Given the description of an element on the screen output the (x, y) to click on. 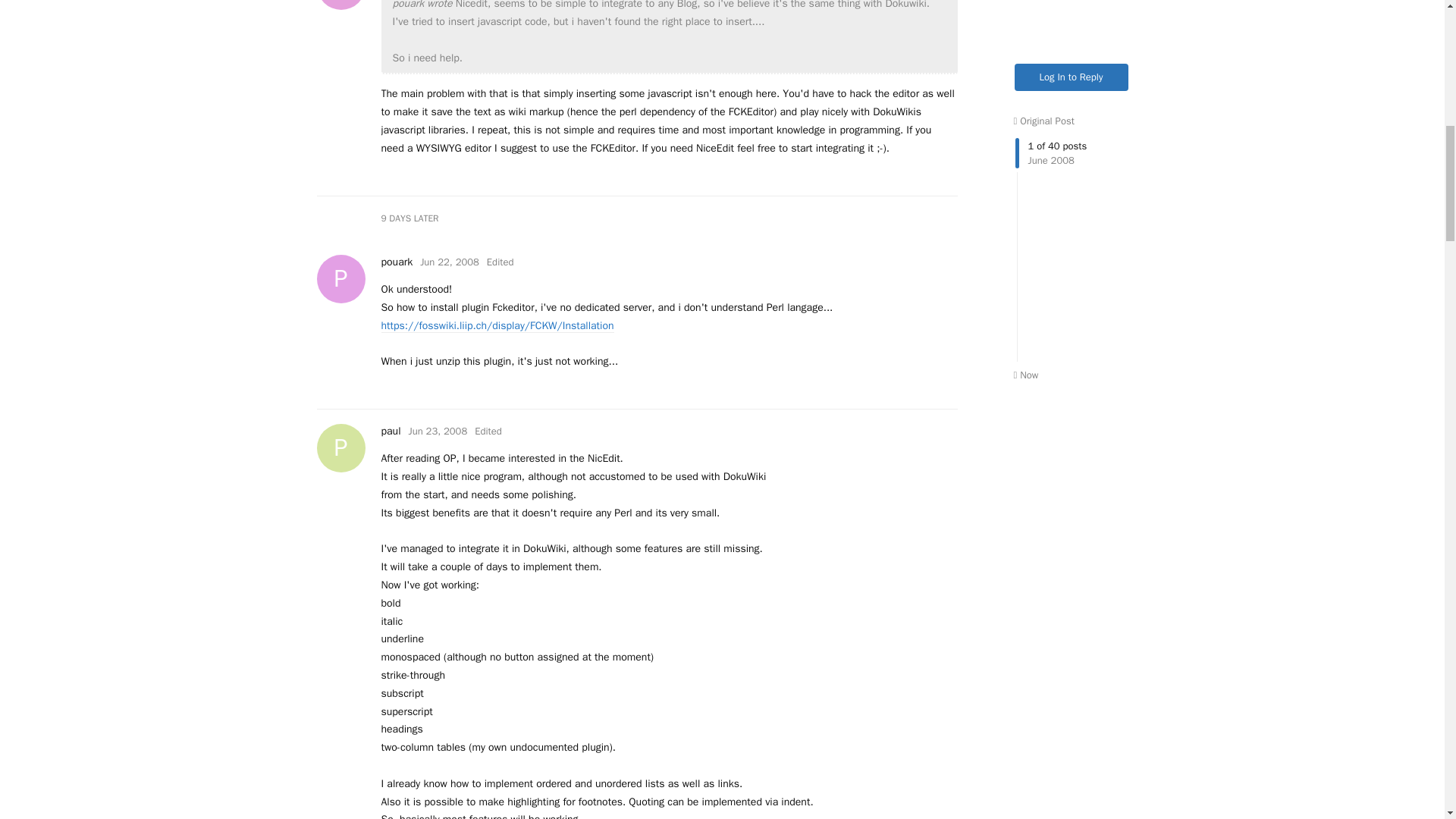
Monday, June 23, 2008 10:43 AM (396, 260)
Jun 23, 2008 (437, 431)
Sunday, June 22, 2008 10:34 PM (437, 431)
Jun 22, 2008 (390, 431)
